Given the description of an element on the screen output the (x, y) to click on. 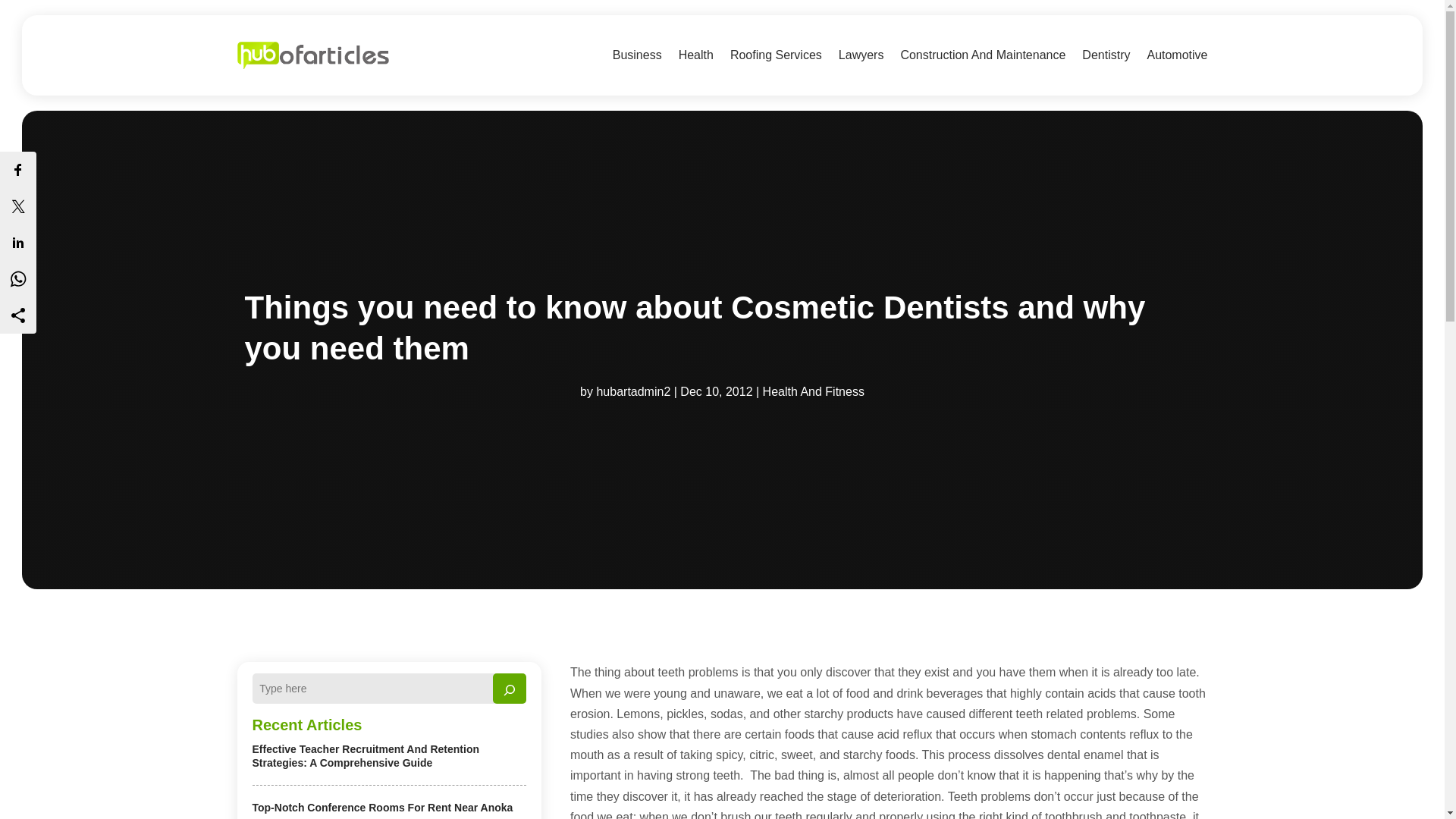
Construction And Maintenance (982, 55)
Posts by hubartadmin2 (632, 391)
Health And Fitness (813, 391)
Top-Notch Conference Rooms For Rent Near Anoka (381, 807)
Roofing Services (776, 55)
Automotive (1177, 55)
hubartadmin2 (632, 391)
